Given the description of an element on the screen output the (x, y) to click on. 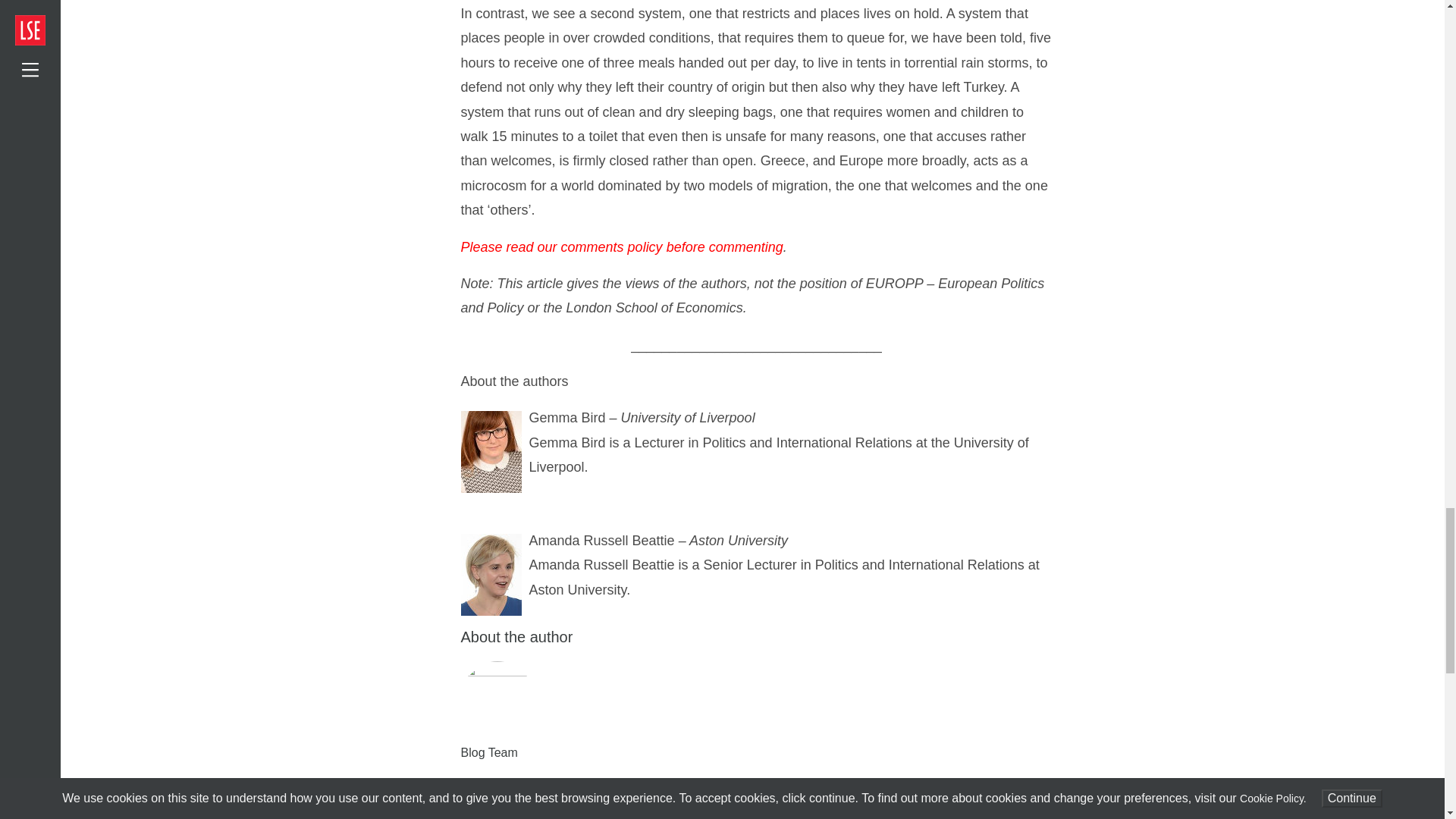
Please read our comments policy before commenting (622, 246)
